Given the description of an element on the screen output the (x, y) to click on. 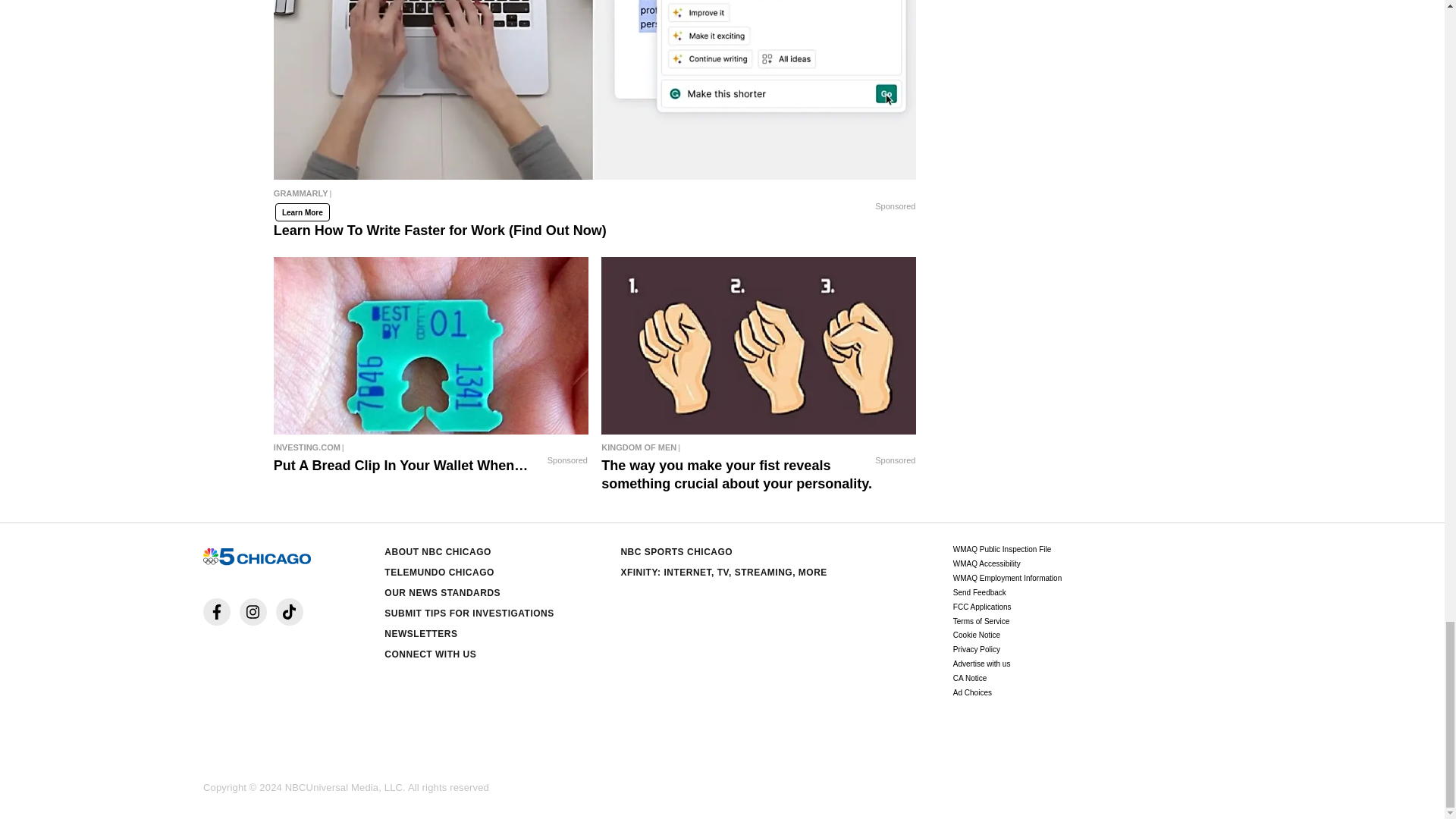
Put A Bread Clip In Your Wallet When Traveling (430, 447)
Put A Bread Clip In Your Wallet When Traveling (430, 345)
